Given the description of an element on the screen output the (x, y) to click on. 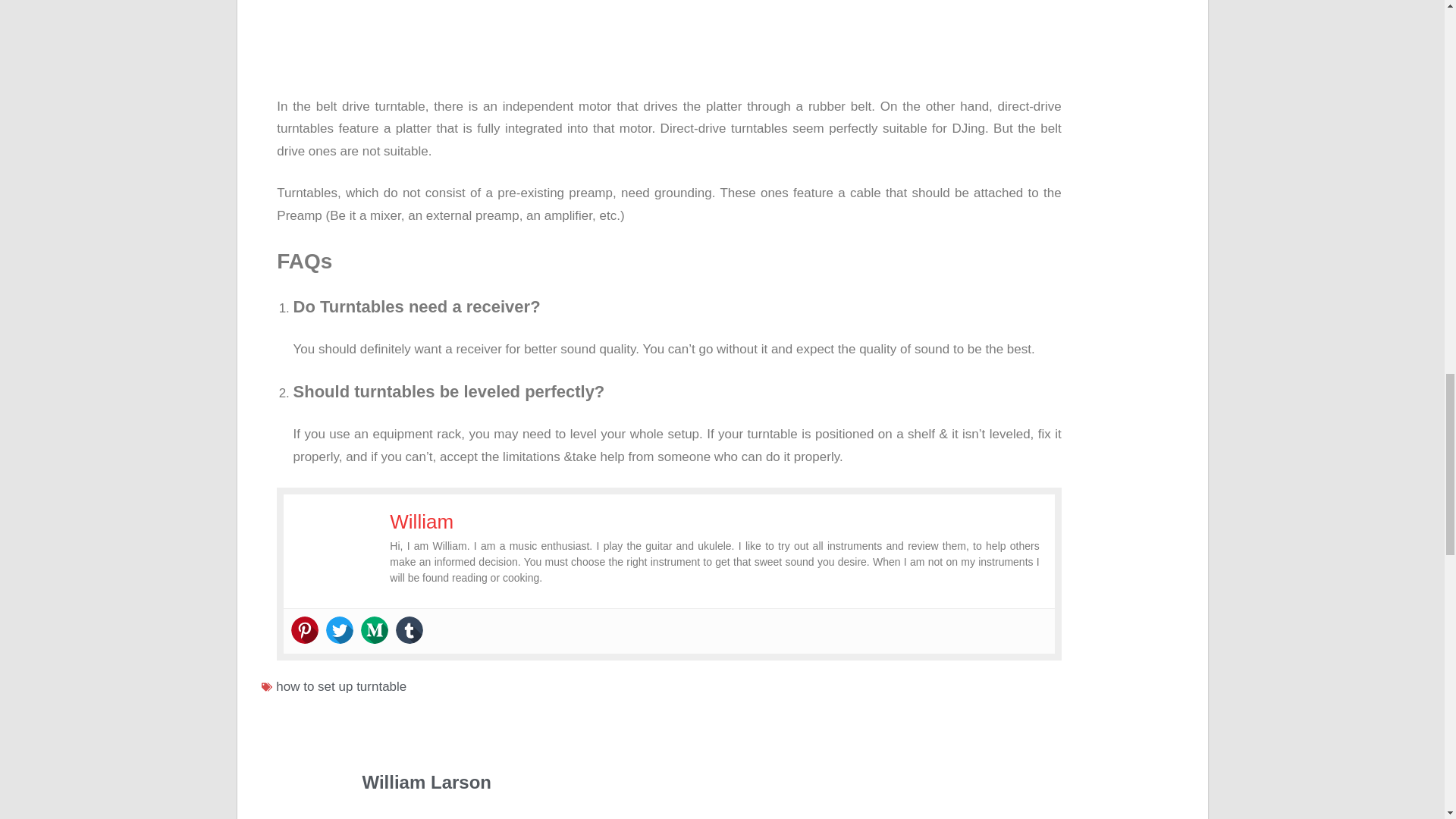
Twitter (339, 629)
Medium (374, 629)
Tumblr (409, 629)
Pinterest (304, 629)
